Given the description of an element on the screen output the (x, y) to click on. 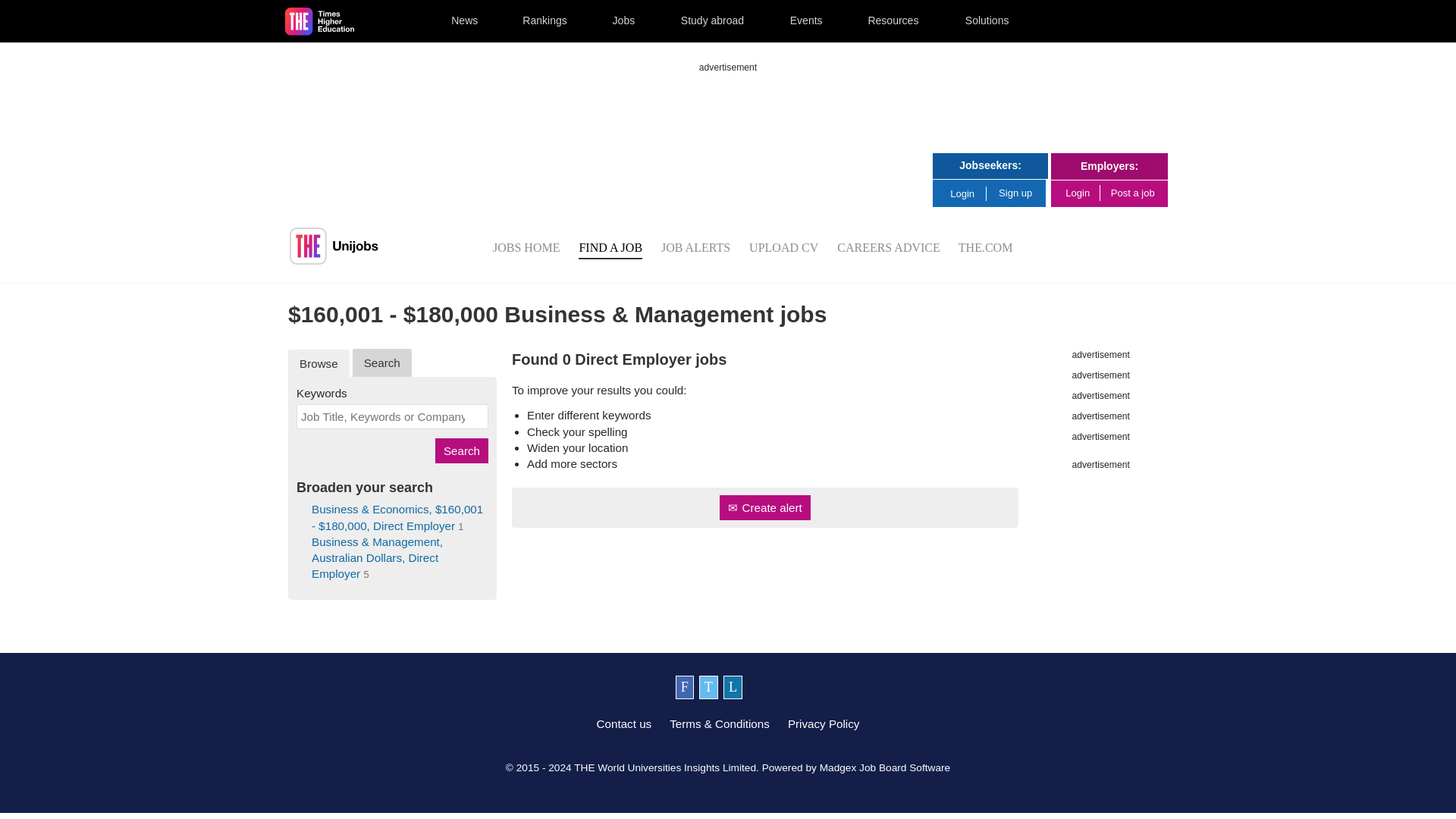
News (464, 21)
Search (461, 450)
Resources (893, 21)
Jobs (623, 21)
Study abroad (711, 21)
Rankings (544, 21)
Events (805, 21)
THEunijobs (333, 246)
Solutions (987, 21)
